Given the description of an element on the screen output the (x, y) to click on. 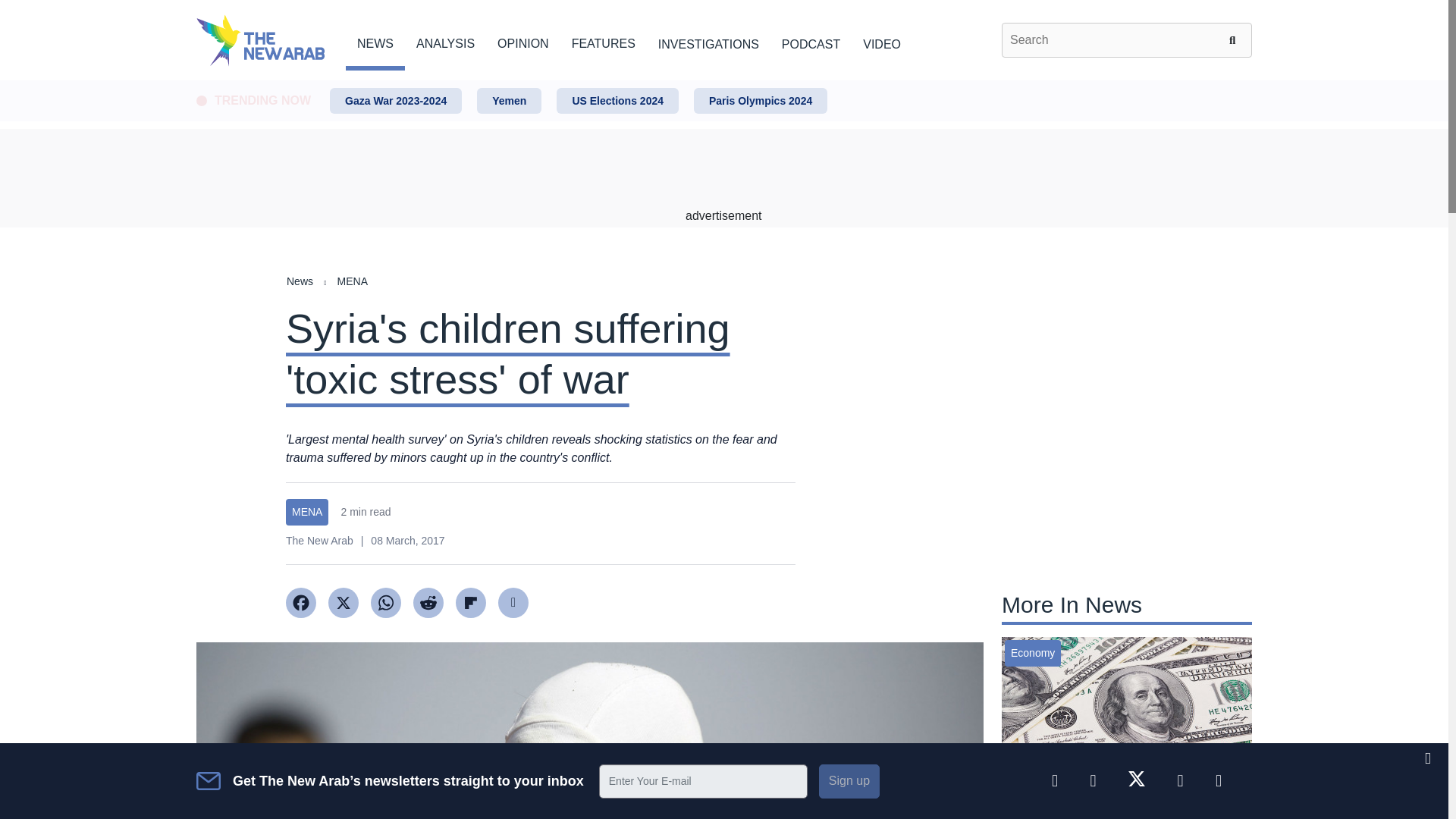
ANALYSIS (445, 41)
Search (1234, 39)
NEWS (375, 41)
Skip to main content (724, 81)
OPINION (523, 41)
